Given the description of an element on the screen output the (x, y) to click on. 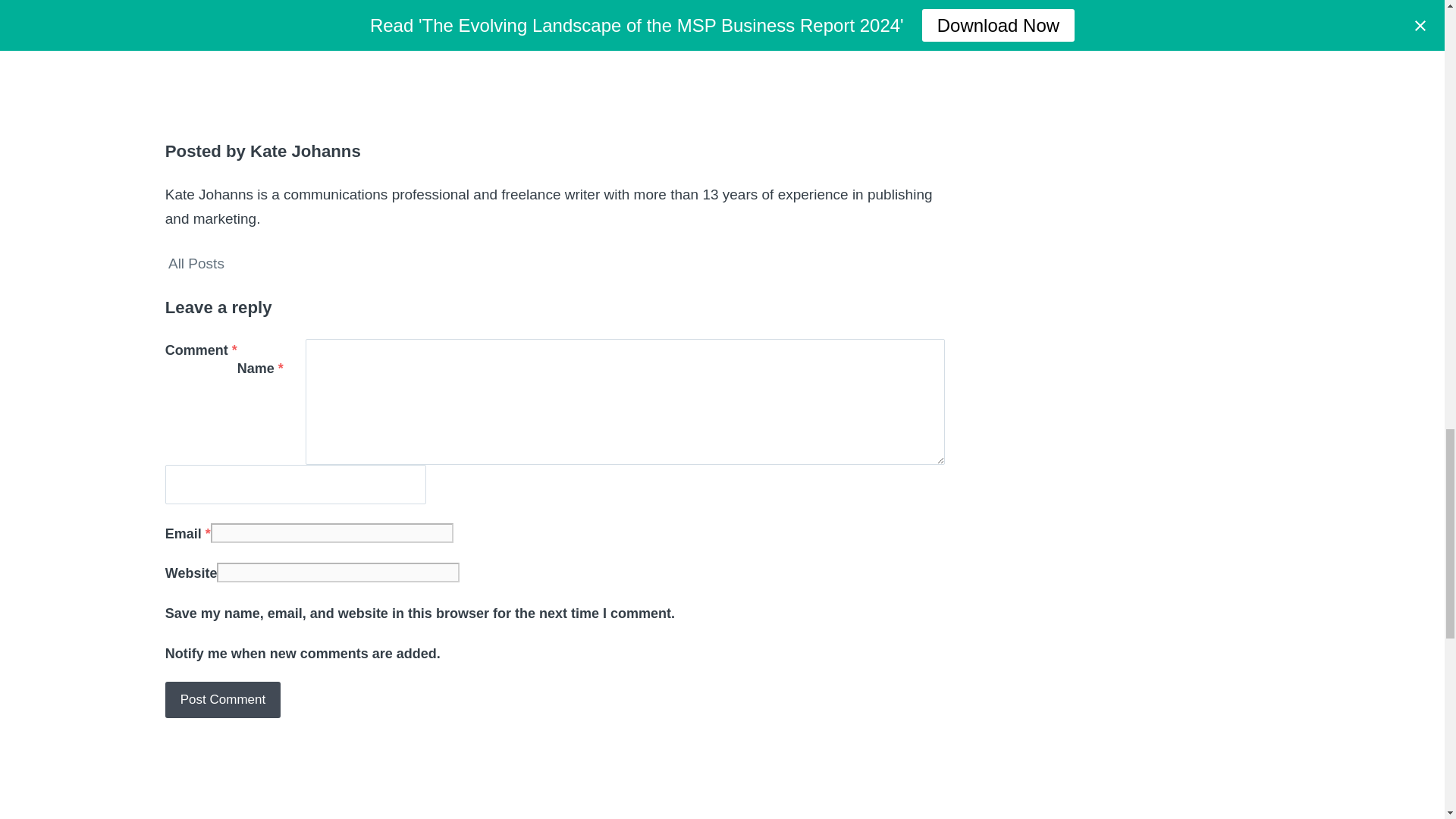
Post Comment (223, 699)
